Given the description of an element on the screen output the (x, y) to click on. 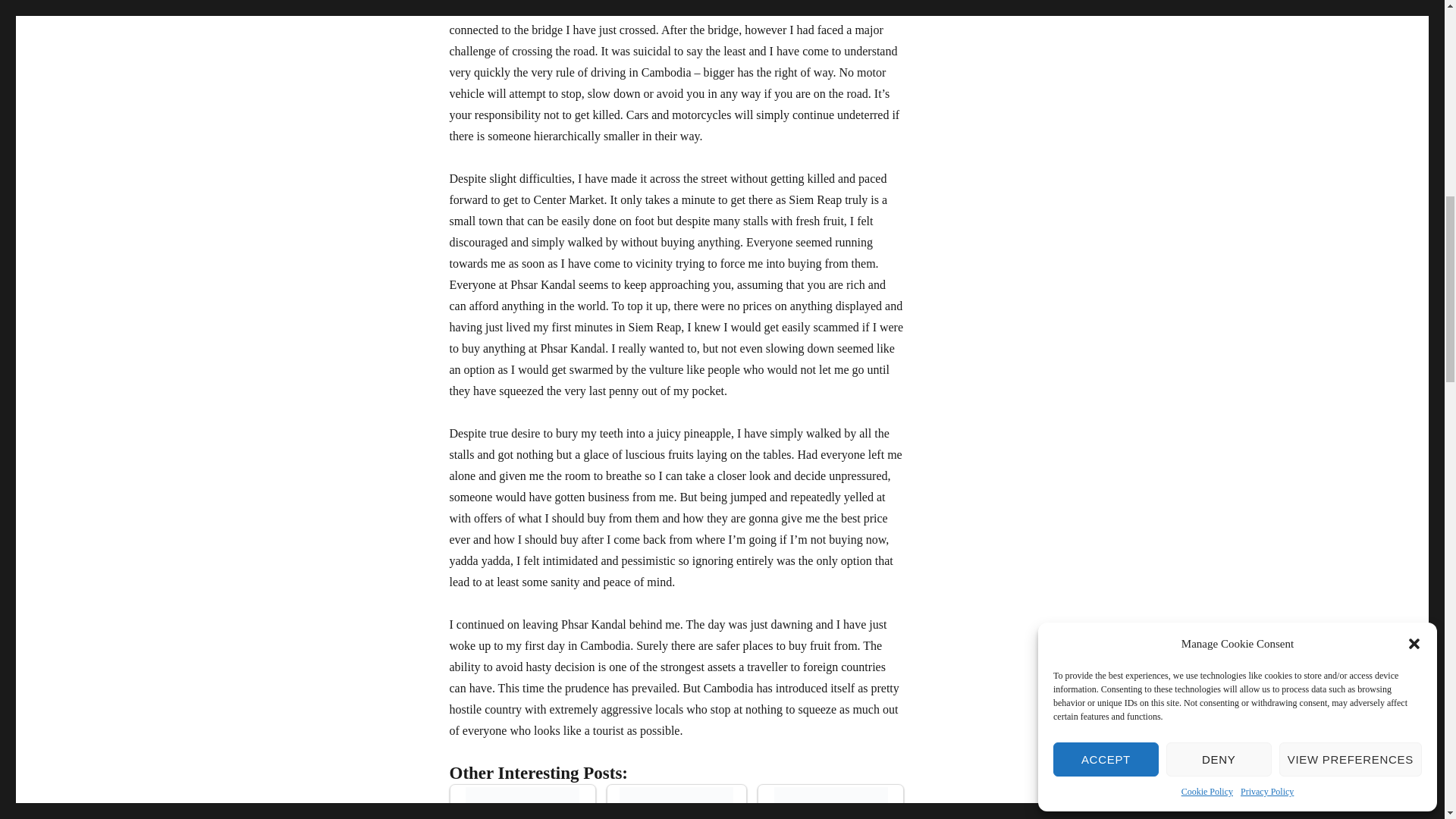
Exploring Siem Reap on Foot (676, 803)
Phsar Chas - Old Market in Siem Reap (522, 801)
Exploring Siem Reap on Foot (676, 801)
Phsar Chas - Old Market in Siem Reap (522, 803)
